Given the description of an element on the screen output the (x, y) to click on. 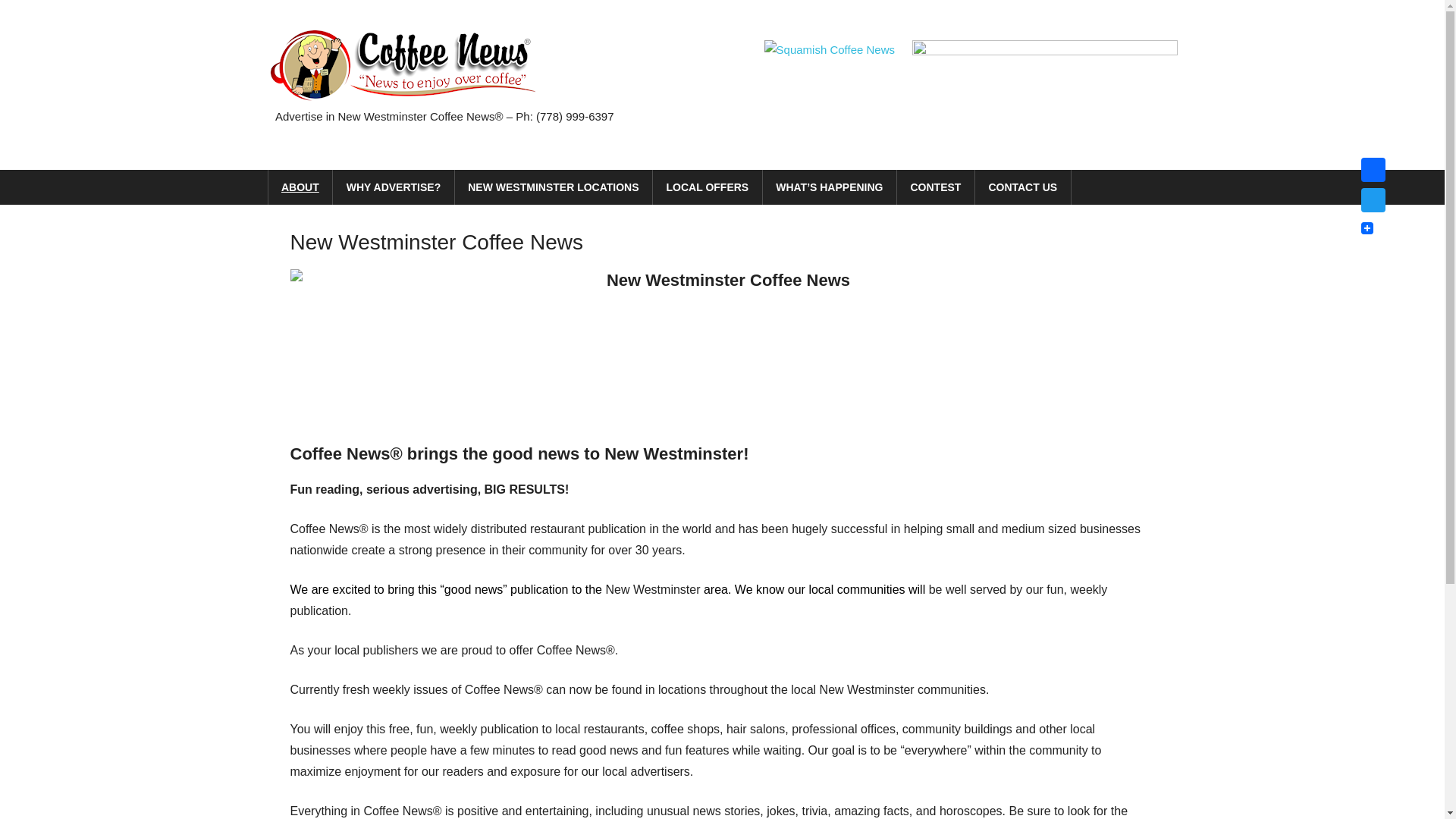
NEW WESTMINSTER LOCATIONS (553, 186)
CONTACT US (1023, 186)
ABOUT (300, 186)
Twitter (1373, 200)
CONTEST (935, 186)
WHY ADVERTISE? (393, 186)
Twitter (1373, 200)
LOCAL OFFERS (707, 186)
Facebook (1373, 169)
Facebook (1373, 169)
